Given the description of an element on the screen output the (x, y) to click on. 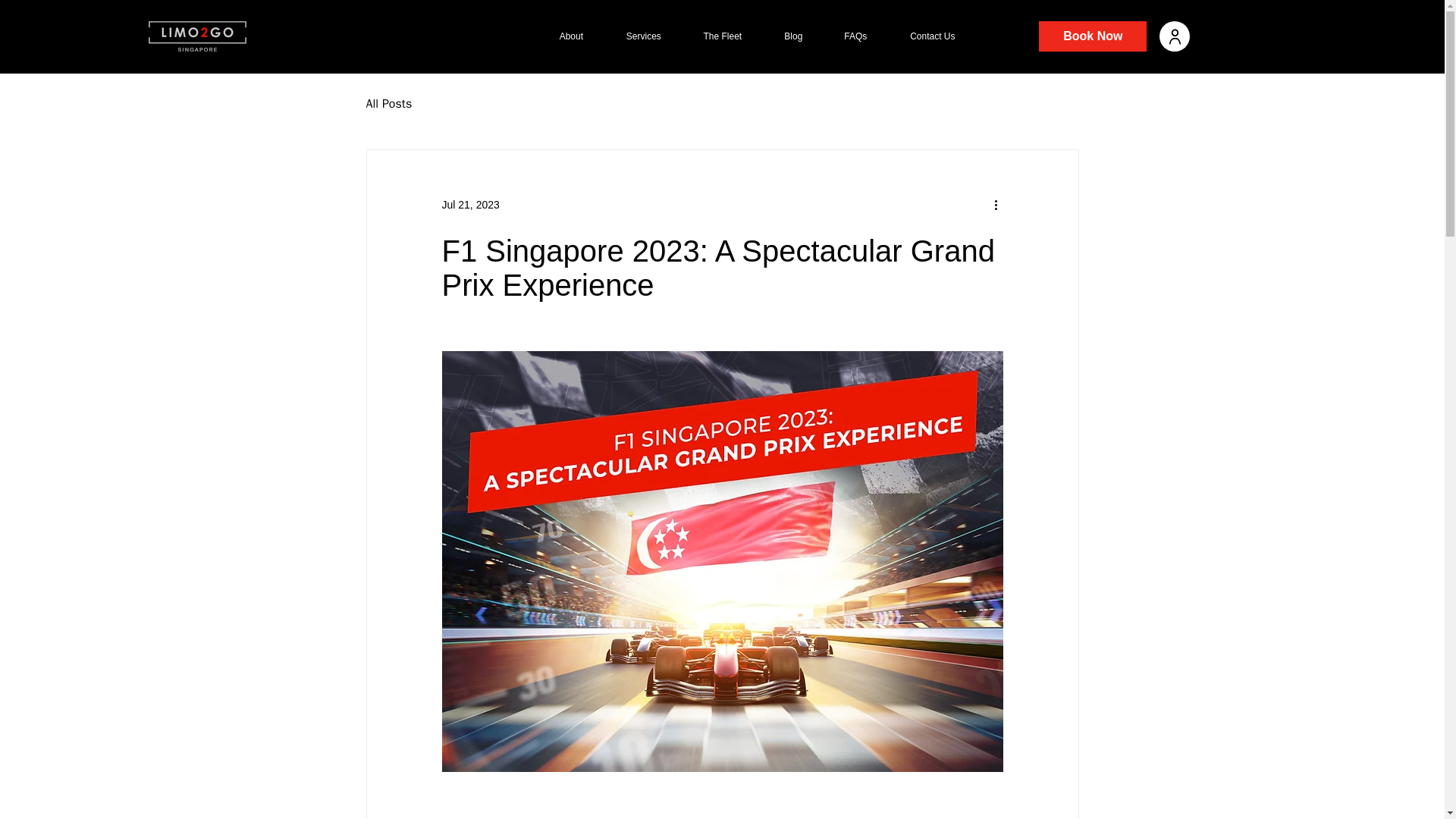
About (571, 36)
Blog (793, 36)
FAQs (855, 36)
Book Now (1093, 36)
All Posts (388, 103)
Jul 21, 2023 (470, 204)
The Fleet (721, 36)
Services (643, 36)
Contact Us (931, 36)
